Given the description of an element on the screen output the (x, y) to click on. 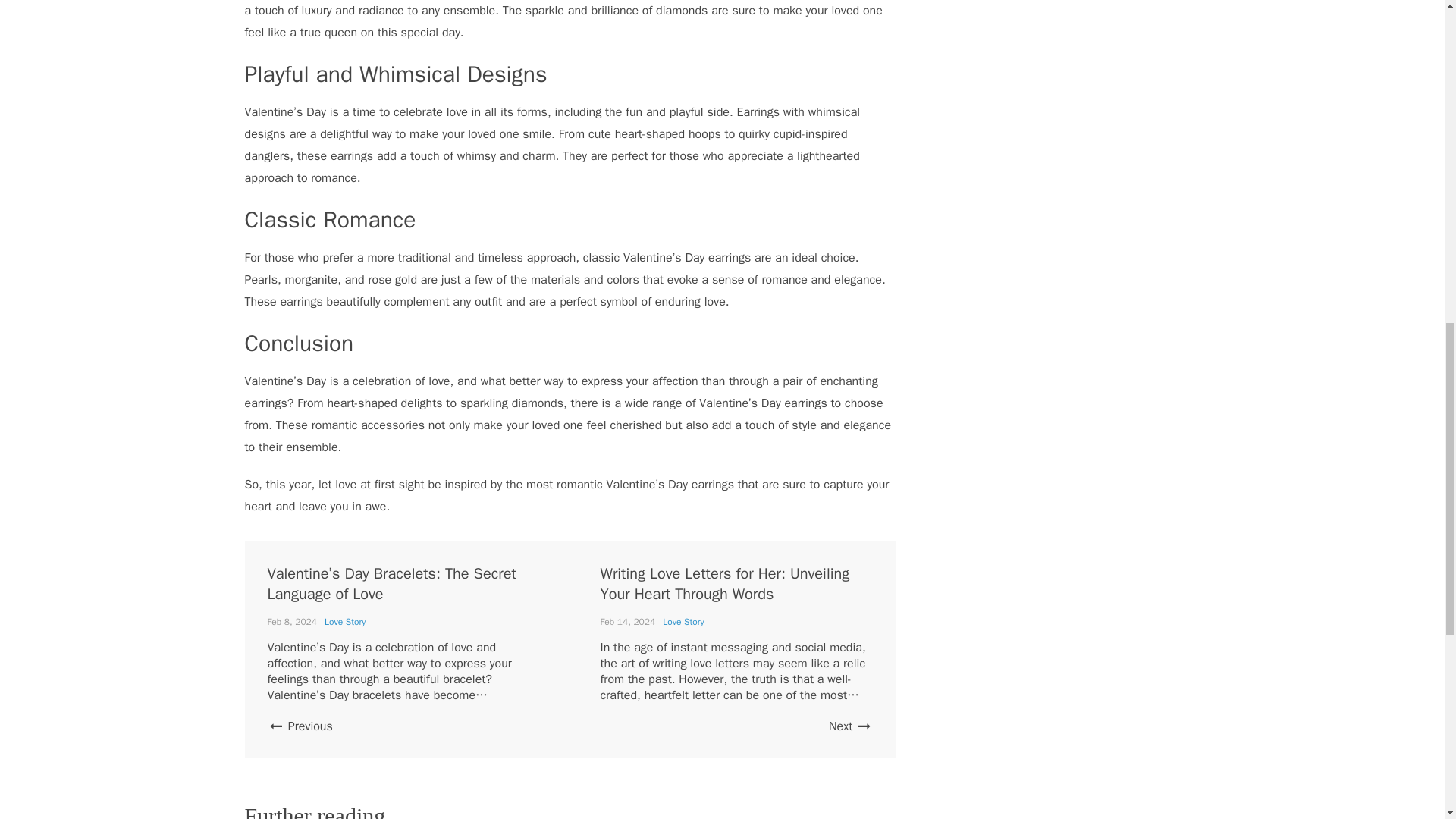
Previous (298, 726)
Next (850, 726)
Love Story (682, 621)
Love Story (344, 621)
